Given the description of an element on the screen output the (x, y) to click on. 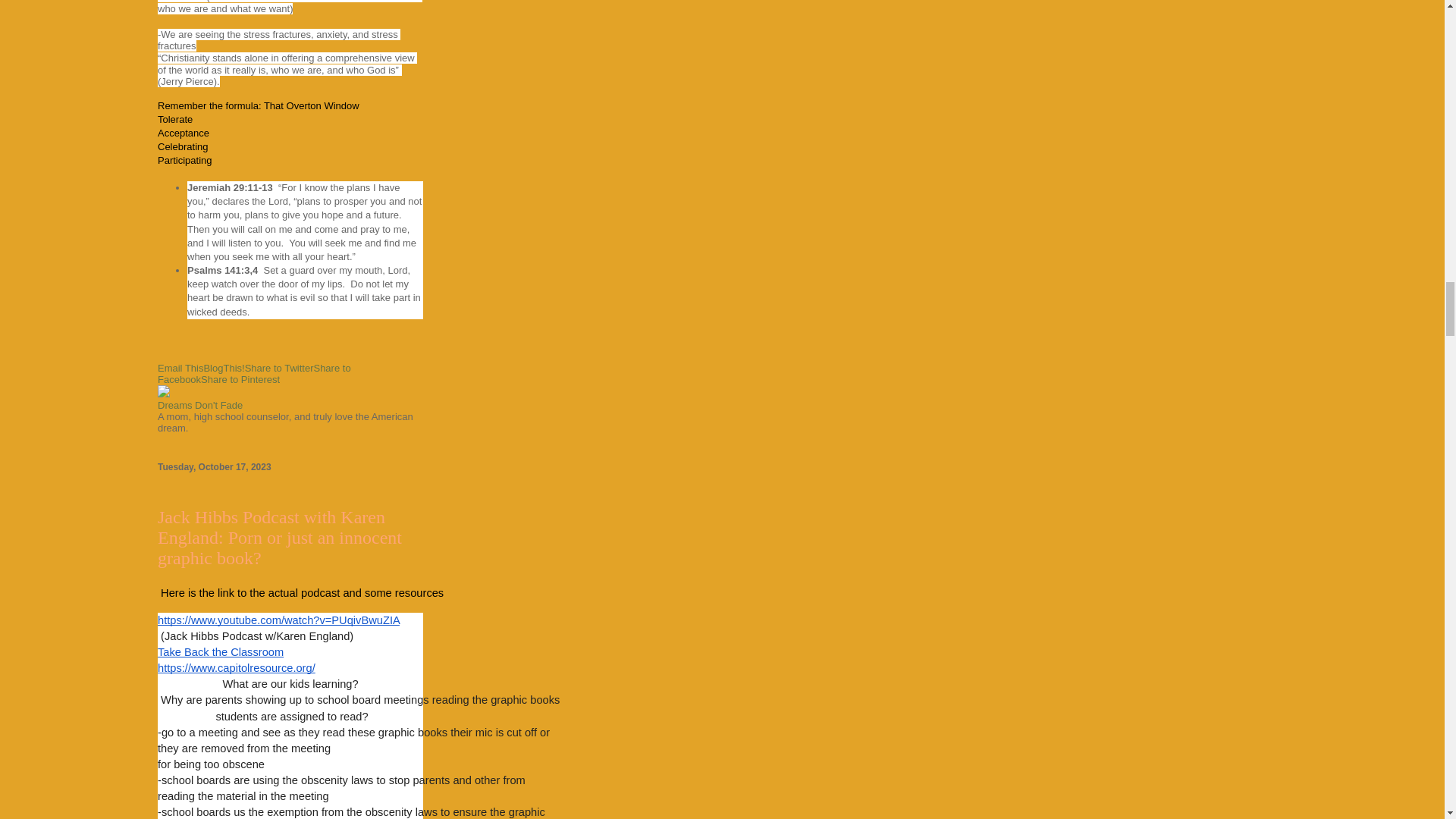
Email This (180, 367)
BlogThis! (223, 367)
Take Back the Classroom (220, 652)
Share to Facebook (253, 373)
Share to Pinterest (239, 378)
Share to Pinterest (239, 378)
BlogThis! (223, 367)
Share to Twitter (279, 367)
Dreams Don't Fade (200, 405)
Email This (180, 367)
